Given the description of an element on the screen output the (x, y) to click on. 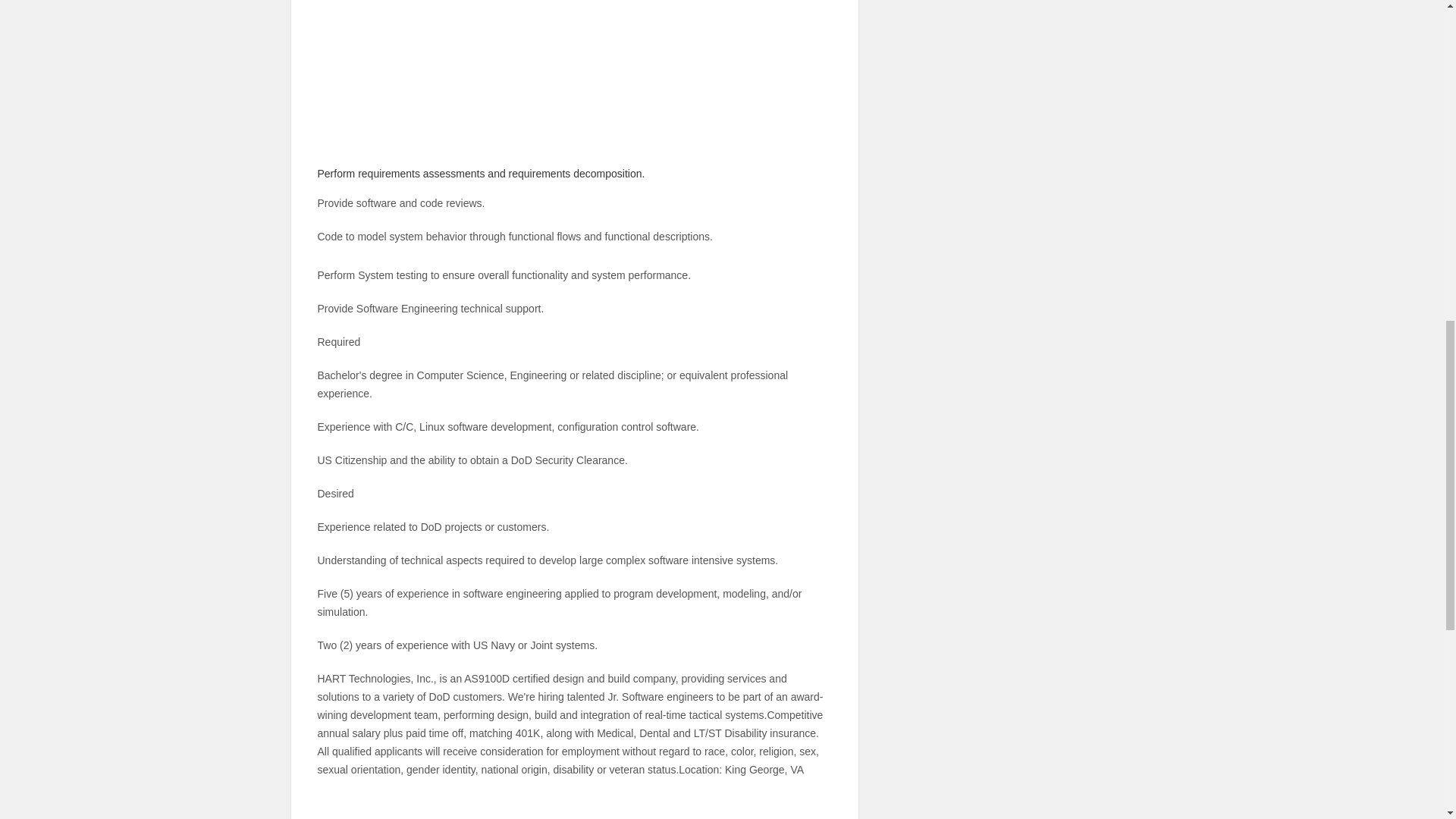
Advertisement (574, 102)
